Given the description of an element on the screen output the (x, y) to click on. 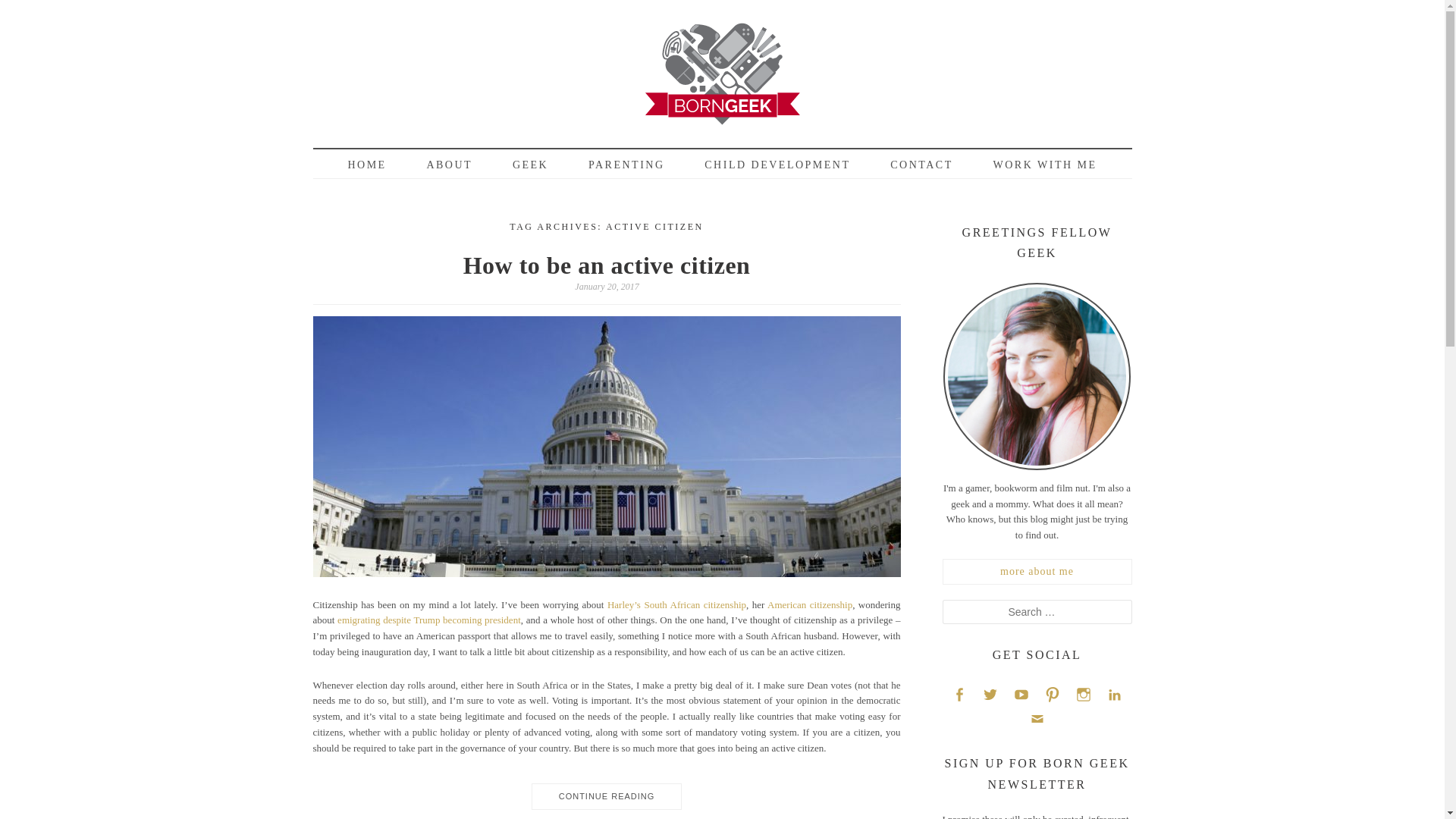
Search (32, 8)
GEEK (530, 164)
Instagram (1082, 693)
Twitter (989, 693)
January 20, 2017 (606, 286)
PARENTING (626, 164)
CONTINUE READING (606, 791)
Twitter (989, 693)
CHILD DEVELOPMENT (777, 164)
ABOUT (449, 164)
YouTube (1021, 693)
Facebook (959, 693)
How to be an active citizen (607, 265)
Pinterest (1052, 693)
Email (1036, 718)
